Given the description of an element on the screen output the (x, y) to click on. 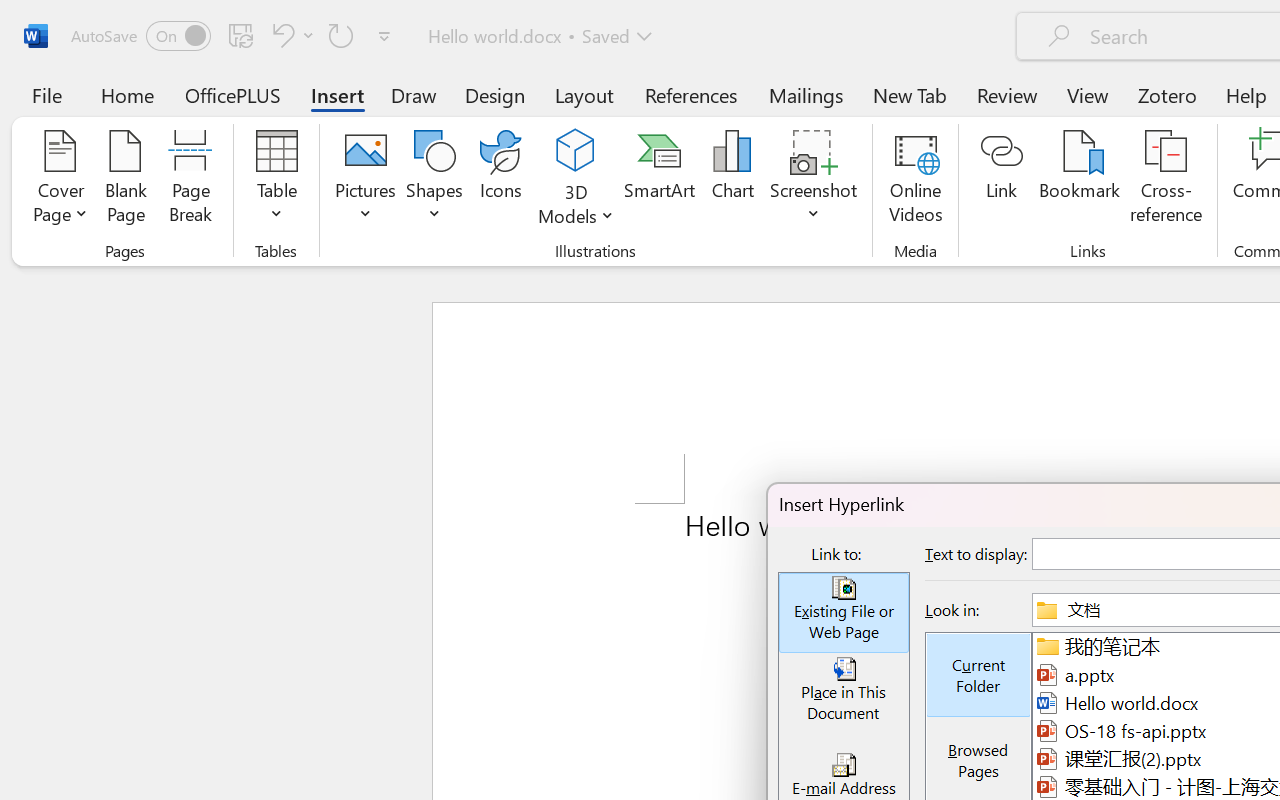
Insert (337, 94)
Chart... (732, 179)
Online Videos... (915, 179)
New Tab (909, 94)
Save (241, 35)
References (690, 94)
Link (1001, 179)
Existing File or Web Page (843, 613)
Bookmark... (1079, 179)
OfficePLUS (233, 94)
Design (495, 94)
3D Models (576, 151)
Can't Undo (290, 35)
Page Break (190, 179)
